Given the description of an element on the screen output the (x, y) to click on. 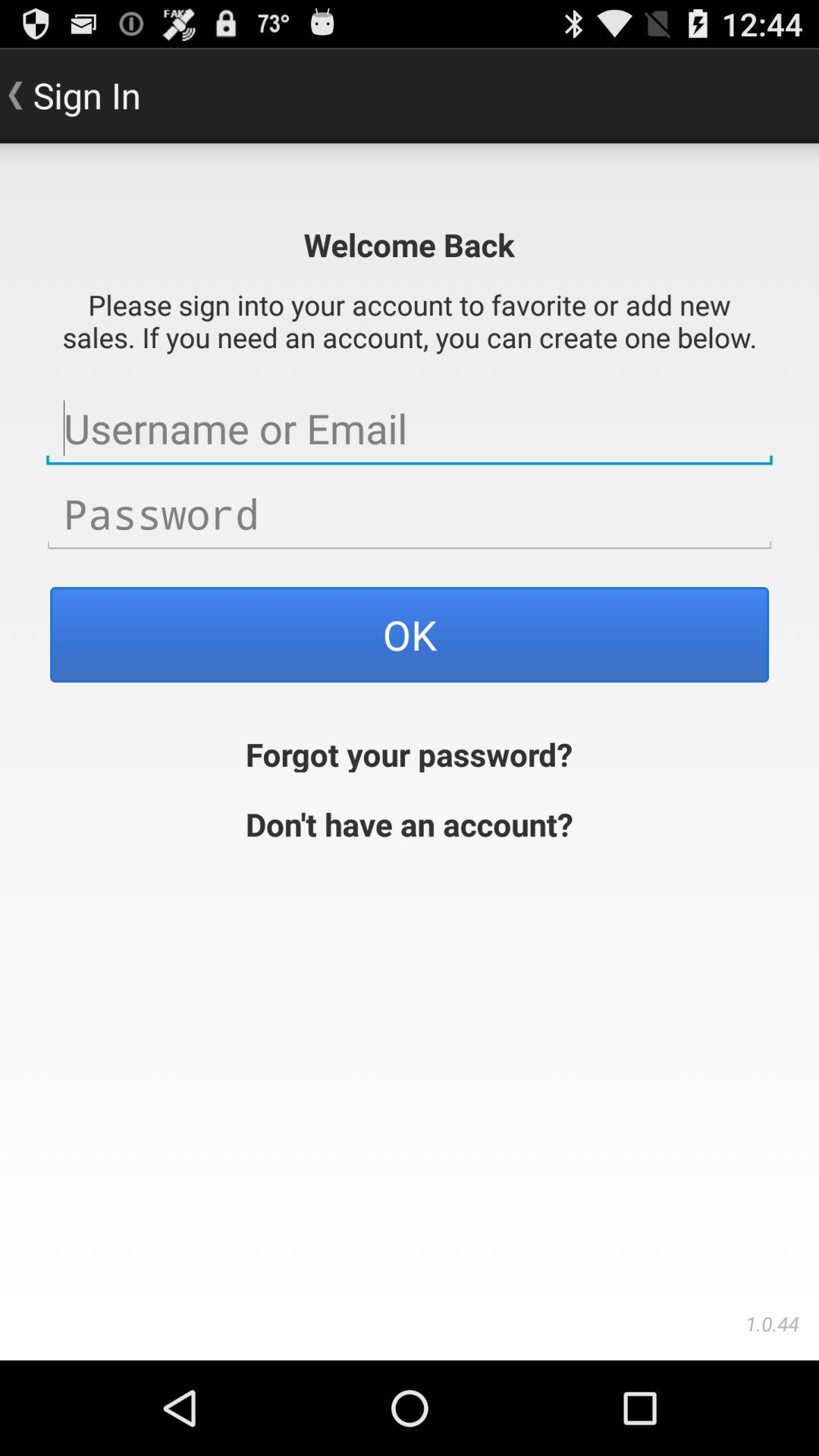
click forgot your password? (408, 752)
